Given the description of an element on the screen output the (x, y) to click on. 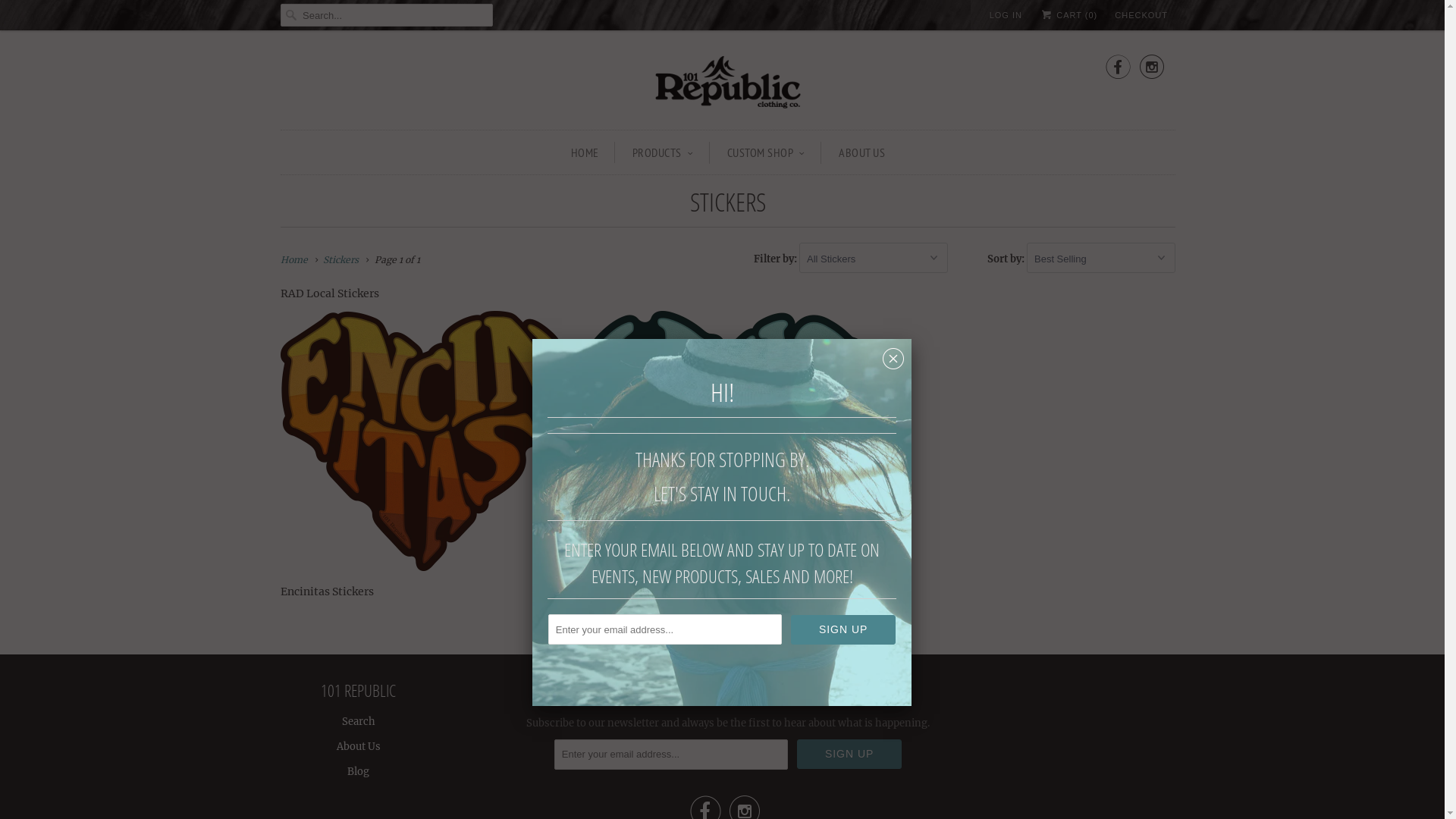
LOG IN Element type: text (1005, 14)
Sign Up Element type: text (849, 753)
Home Element type: text (293, 259)
HOME Element type: text (585, 152)
ABOUT US Element type: text (861, 152)
CUSTOM SHOP Element type: text (766, 152)
Search Element type: text (357, 721)
STICKERS Element type: text (727, 201)
Leucadia Stickers
$ 2.00 Element type: text (727, 453)
Blog Element type: text (358, 771)
Encinitas Stickers
$ 2.00 Element type: text (424, 458)
Stickers Element type: text (340, 259)
101 Republic Element type: hover (727, 83)
About Us Element type: text (358, 746)
PRODUCTS Element type: text (662, 152)
CHECKOUT Element type: text (1140, 14)
Sign Up Element type: text (842, 629)
CART (0) Element type: text (1068, 14)
